Given the description of an element on the screen output the (x, y) to click on. 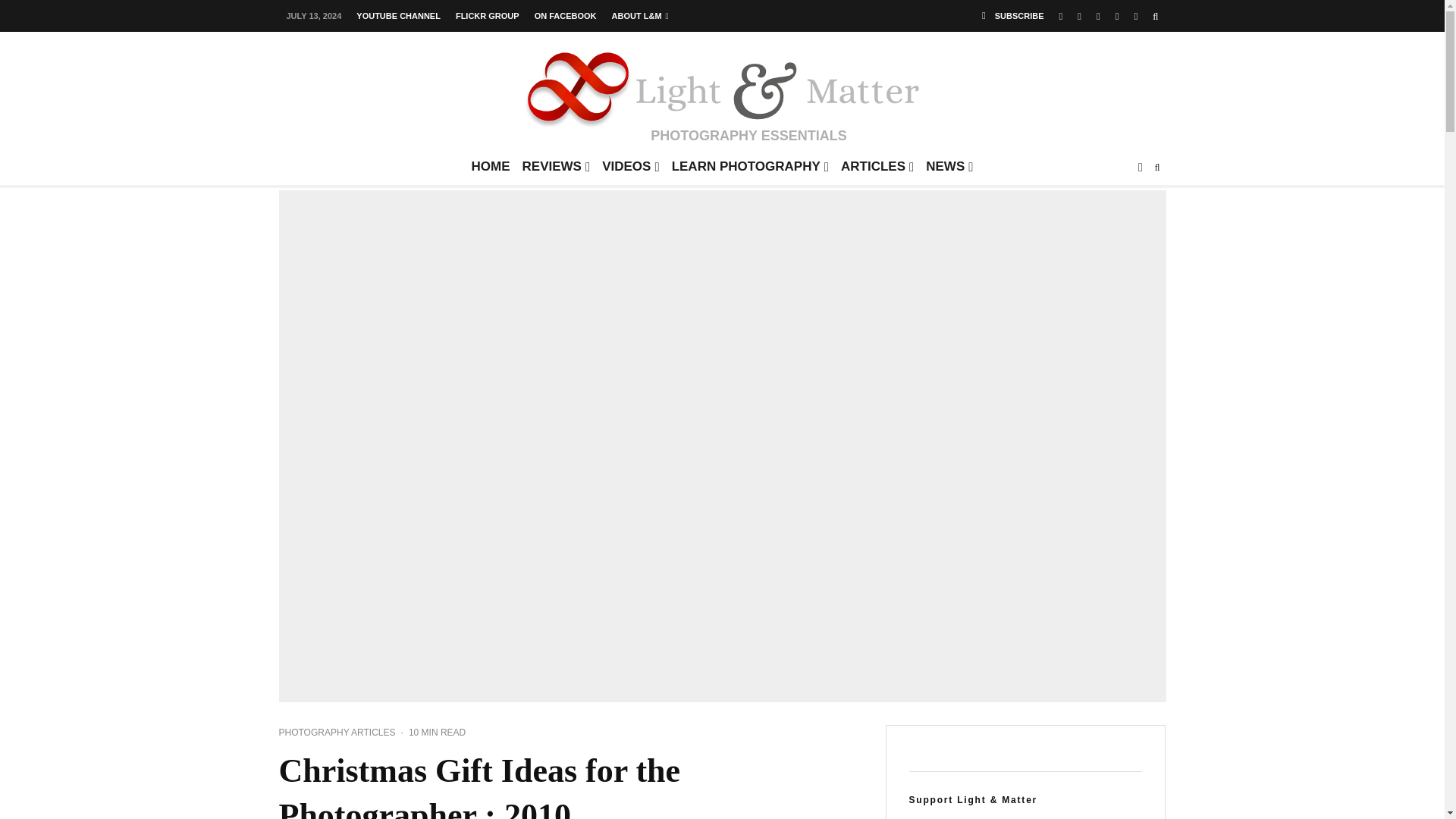
YOUTUBE CHANNEL (398, 16)
HOME (490, 170)
REVIEWS (556, 170)
FLICKR GROUP (487, 16)
Equipment Reviews (556, 170)
PHOTOGRAPHY ESSENTIALS (721, 94)
ON FACEBOOK (565, 16)
SUBSCRIBE (1012, 15)
